Given the description of an element on the screen output the (x, y) to click on. 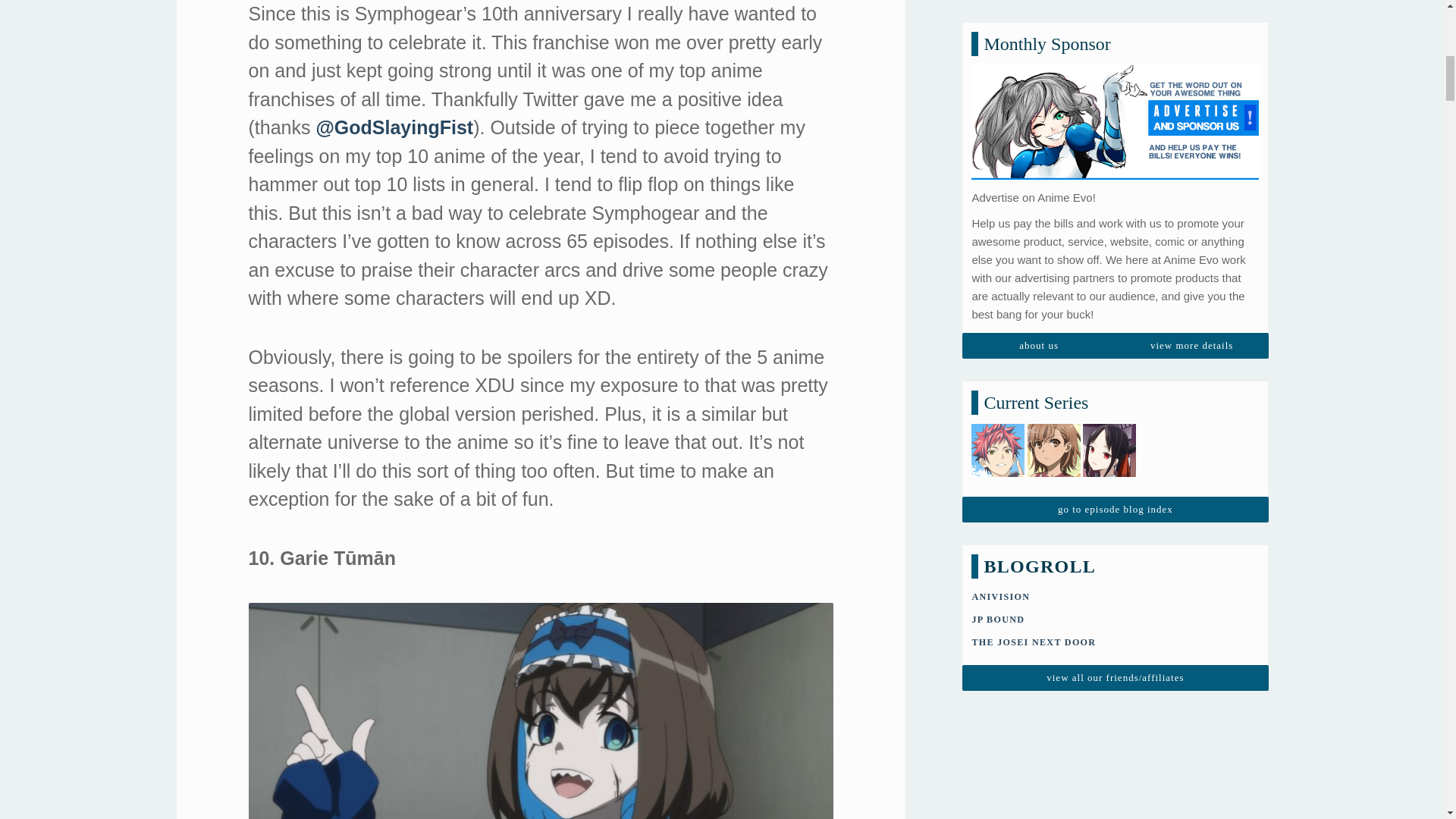
Great Anime Blog run by Dee! (1033, 393)
go to episode blog index (1115, 260)
about us (1038, 96)
ANIVISION (1000, 347)
view more details (1191, 96)
JP BOUND (998, 370)
Shokugeki 5 EP Blog (998, 225)
Railgun T EP Blog (1053, 225)
Kaguya-sama 2 EP Blog (1109, 225)
